Given the description of an element on the screen output the (x, y) to click on. 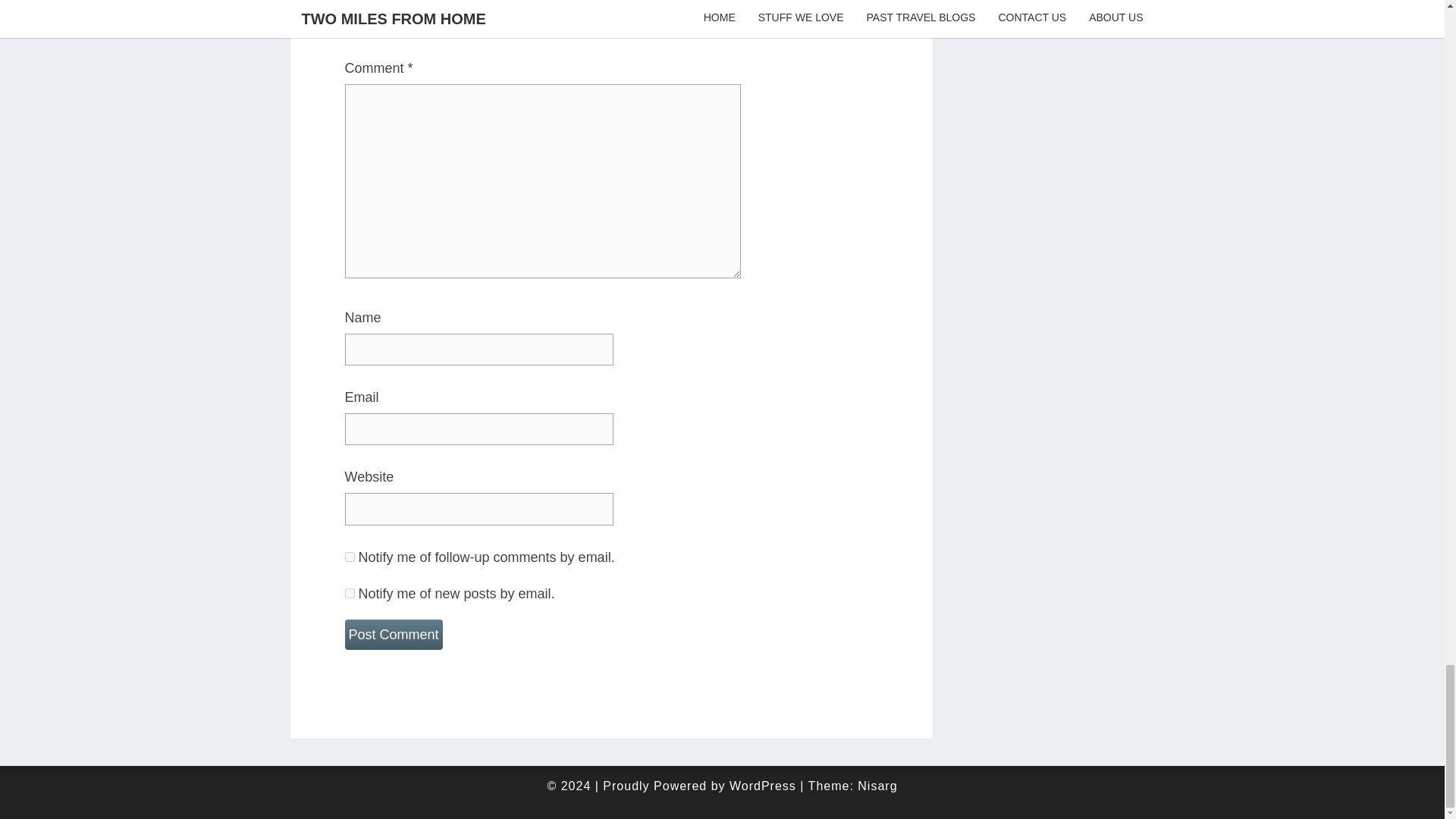
Post Comment (392, 634)
subscribe (348, 556)
Post Comment (392, 634)
subscribe (348, 593)
